Given the description of an element on the screen output the (x, y) to click on. 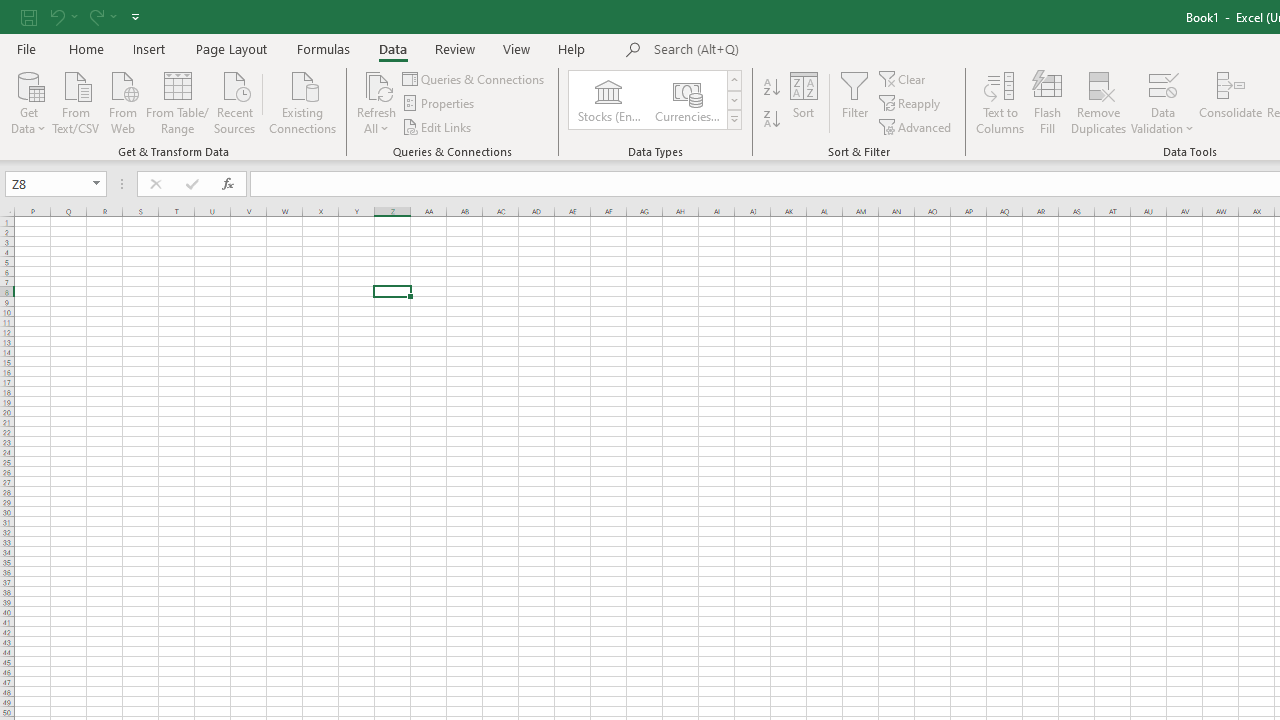
Queries & Connections (474, 78)
Text to Columns... (1000, 102)
Properties (440, 103)
